Given the description of an element on the screen output the (x, y) to click on. 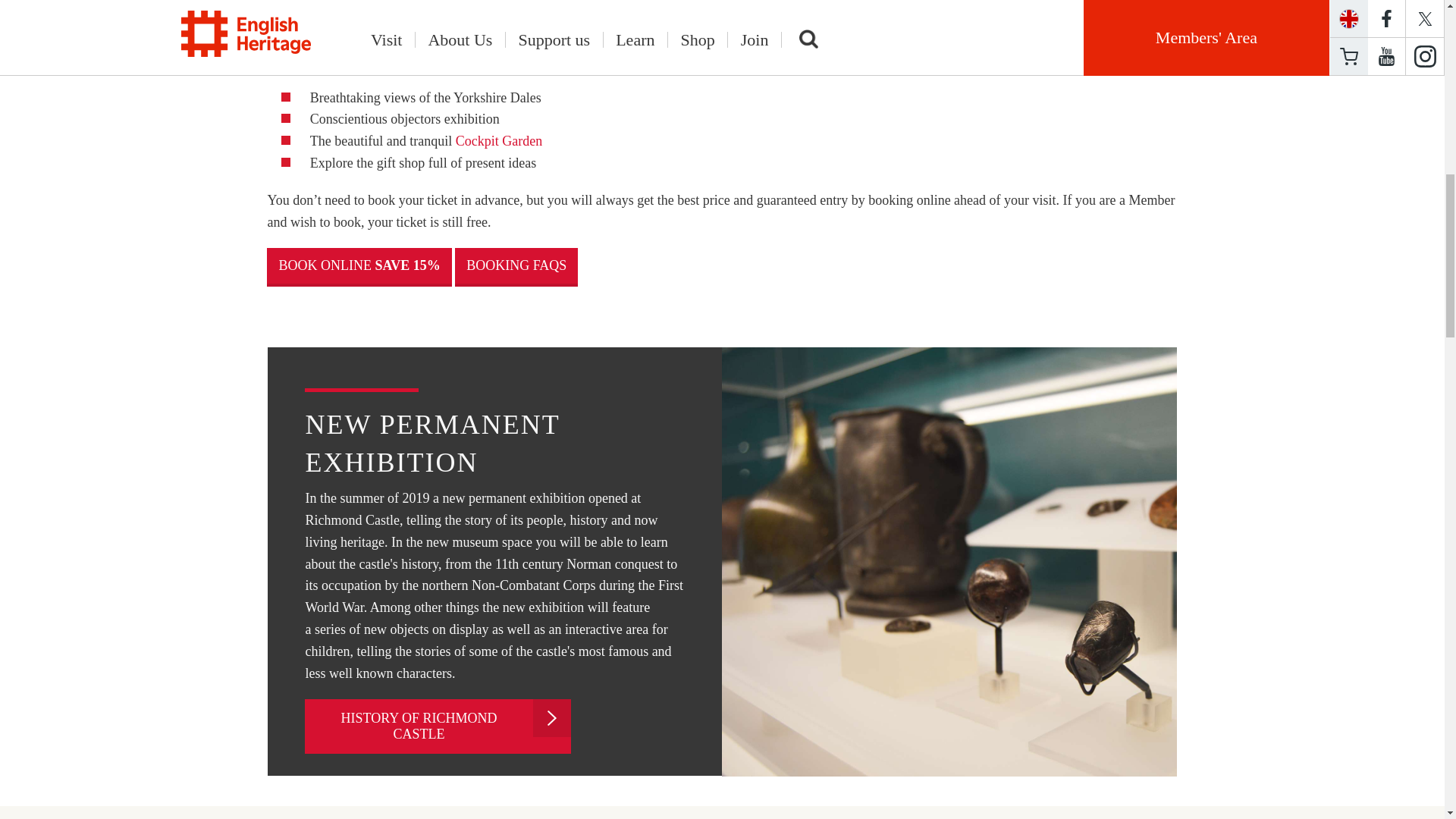
Middleham Castle (548, 4)
Barnard Castle (952, 4)
Richmond Castle Garden (498, 140)
